Given the description of an element on the screen output the (x, y) to click on. 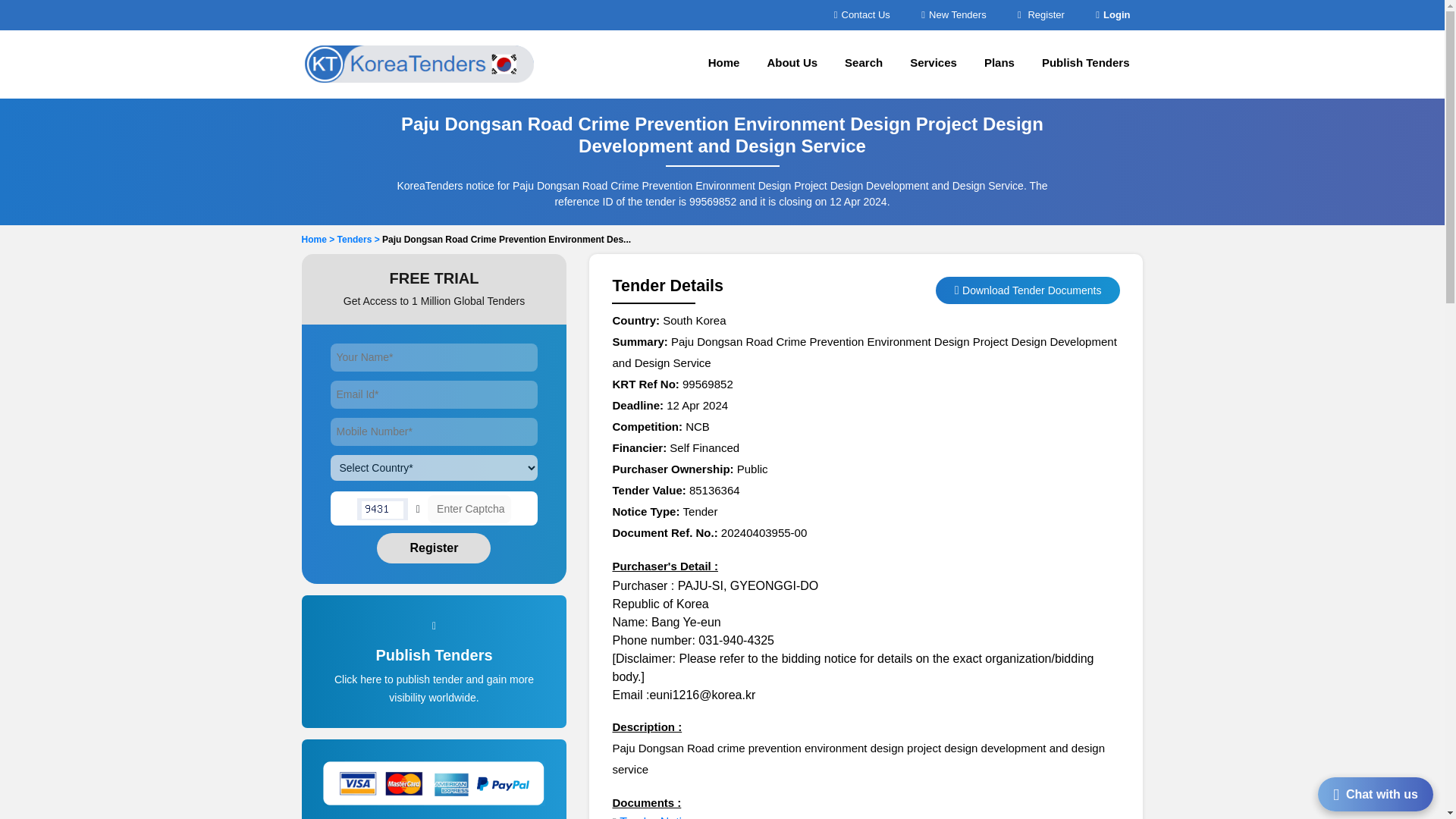
Login (1112, 14)
Plans (999, 64)
About Us (791, 64)
Services (933, 64)
Search (863, 64)
Tender Notice (657, 817)
Register (1040, 14)
Publish Tenders (434, 678)
Download Tender Documents (1031, 290)
Home (724, 64)
Publish Tenders (1084, 64)
Register (433, 548)
Contact Us (861, 14)
